Given the description of an element on the screen output the (x, y) to click on. 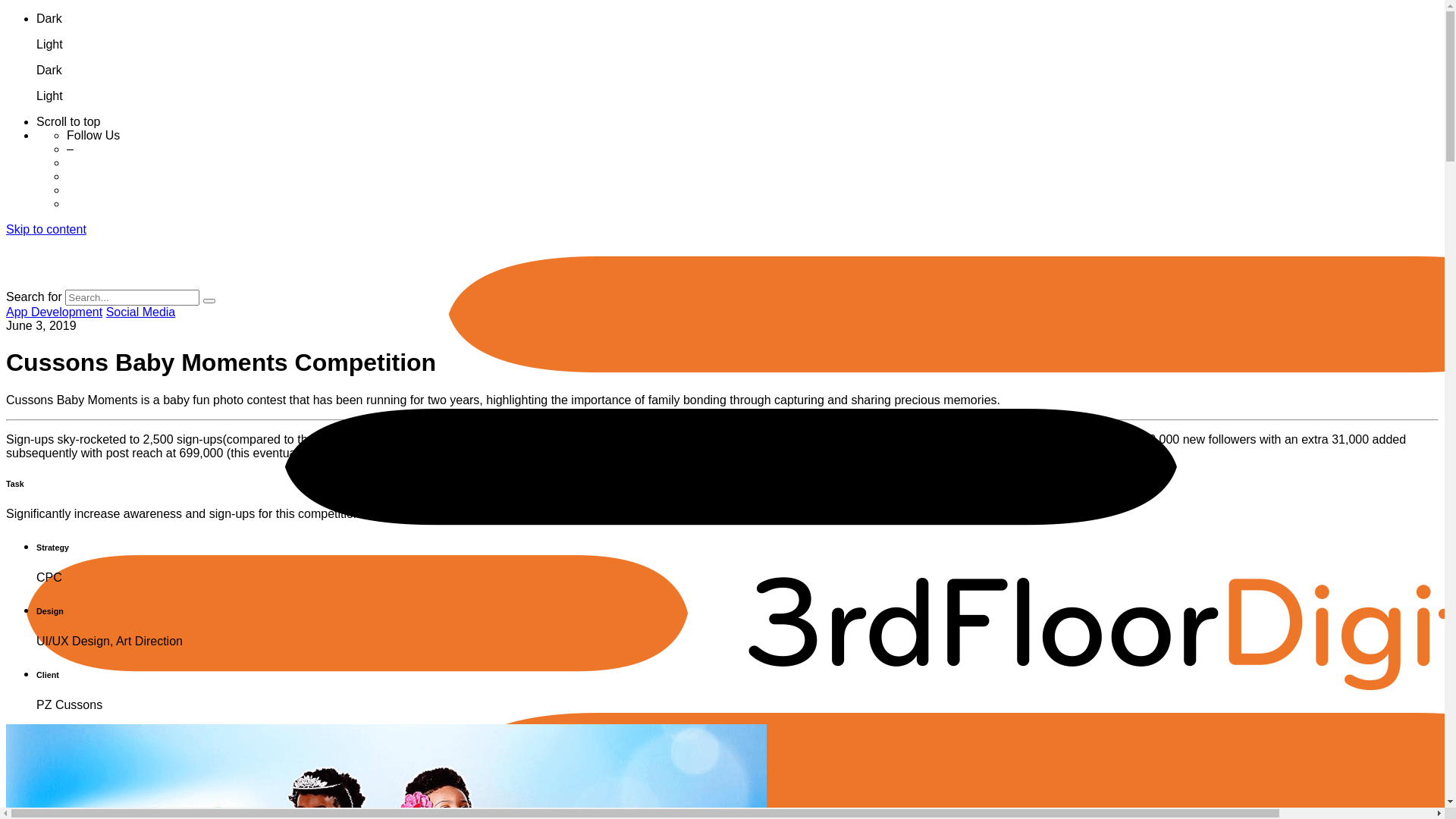
Social Media Element type: text (140, 311)
Skip to content Element type: text (46, 228)
Scroll to top Element type: text (737, 121)
App Development Element type: text (54, 311)
